Given the description of an element on the screen output the (x, y) to click on. 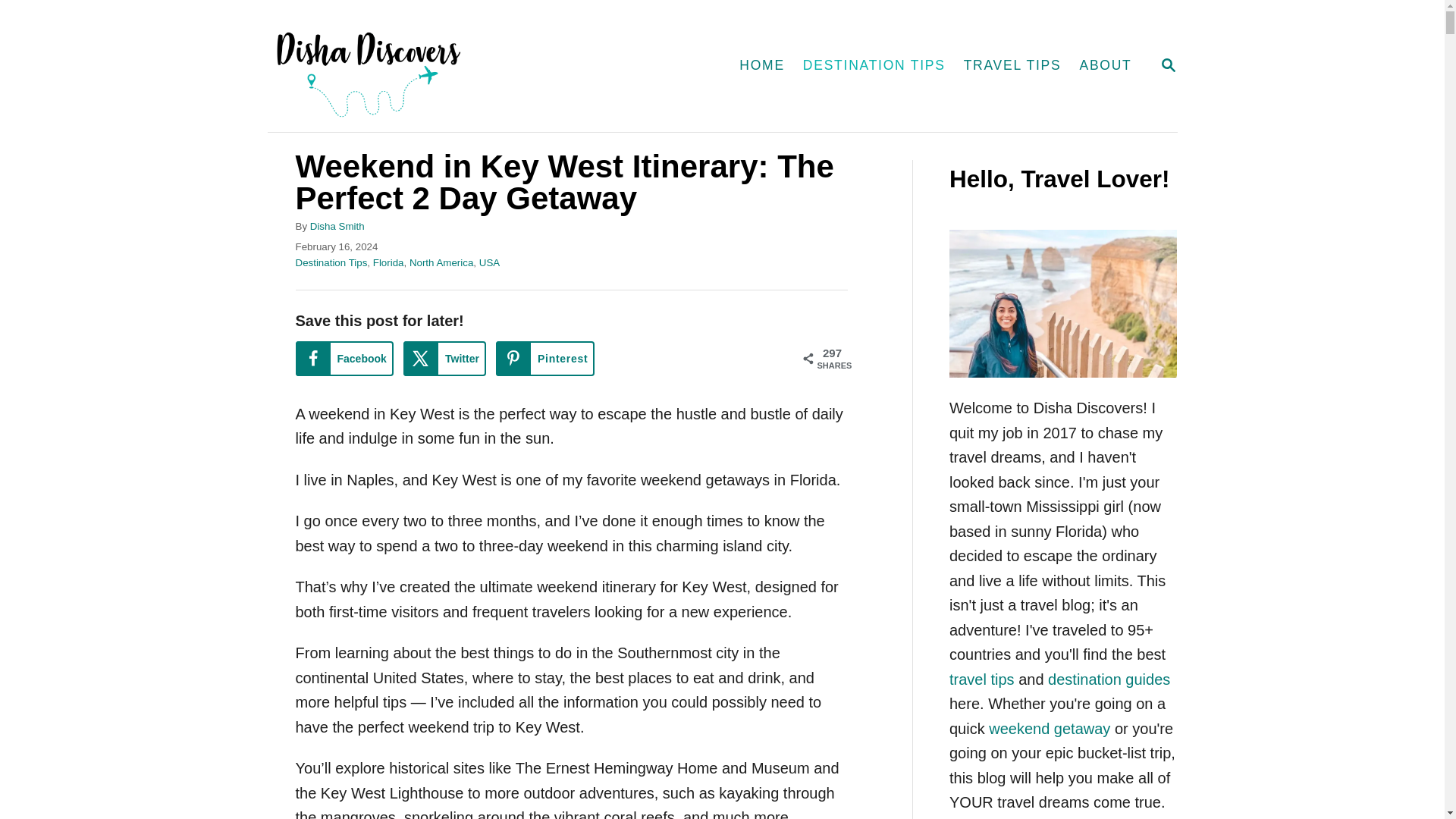
USA (489, 262)
DESTINATION TIPS (874, 65)
Twitter (444, 358)
North America (441, 262)
Disha Discovers (438, 65)
Save to Pinterest (545, 358)
Share on Facebook (344, 358)
Destination Tips (331, 262)
TRAVEL TIPS (1012, 65)
MAGNIFYING GLASS (1167, 65)
Florida (388, 262)
ABOUT (1105, 65)
Pinterest (545, 358)
HOME (1168, 65)
